Given the description of an element on the screen output the (x, y) to click on. 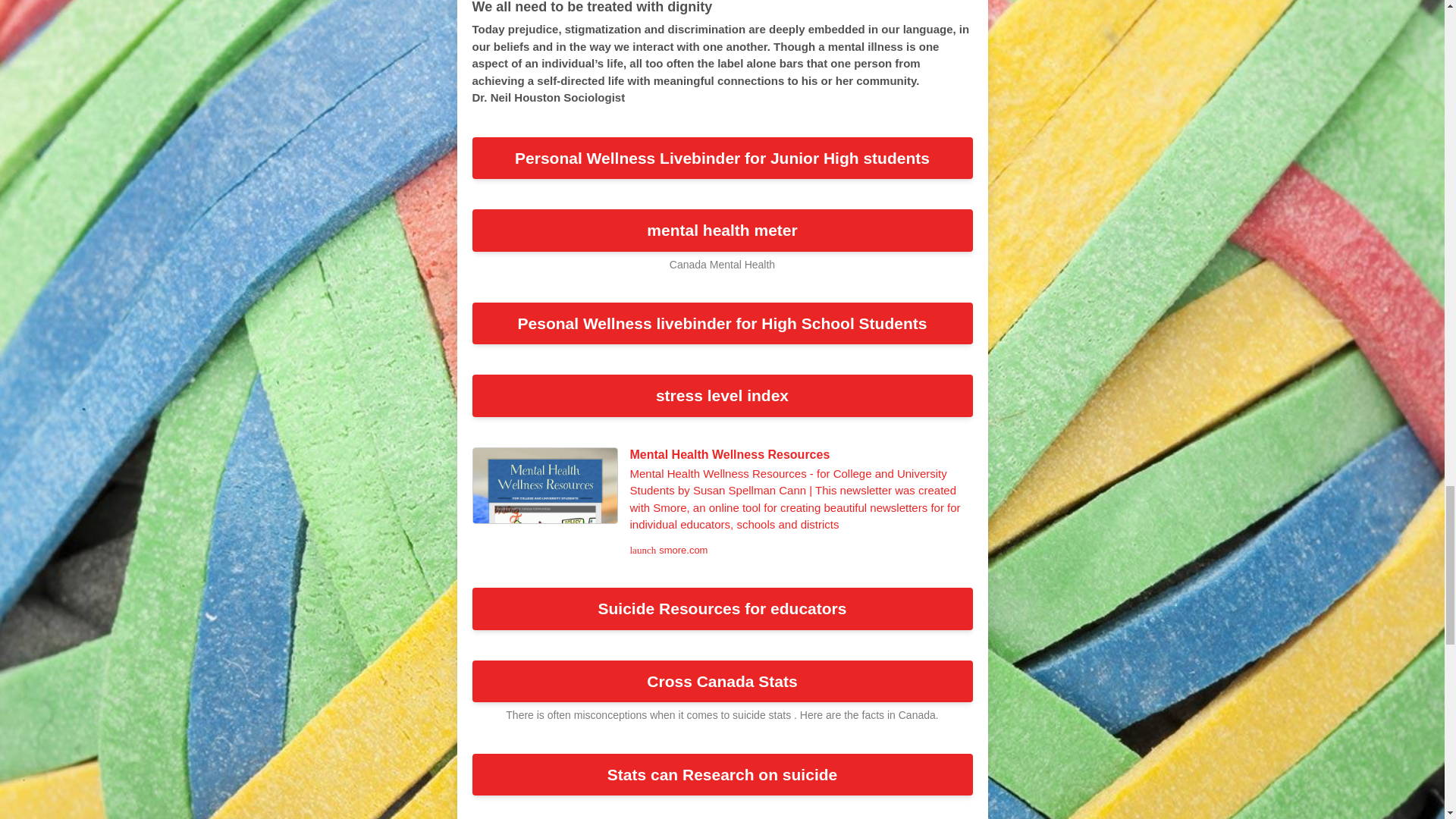
Suicide Resources for educators (721, 608)
Stats can Research on suicide (721, 774)
stress level index (721, 395)
Cross Canada Stats (721, 681)
Personal Wellness Livebinder for Junior High students (721, 157)
mental health meter (721, 230)
Pesonal Wellness livebinder for High School Students (721, 323)
